Given the description of an element on the screen output the (x, y) to click on. 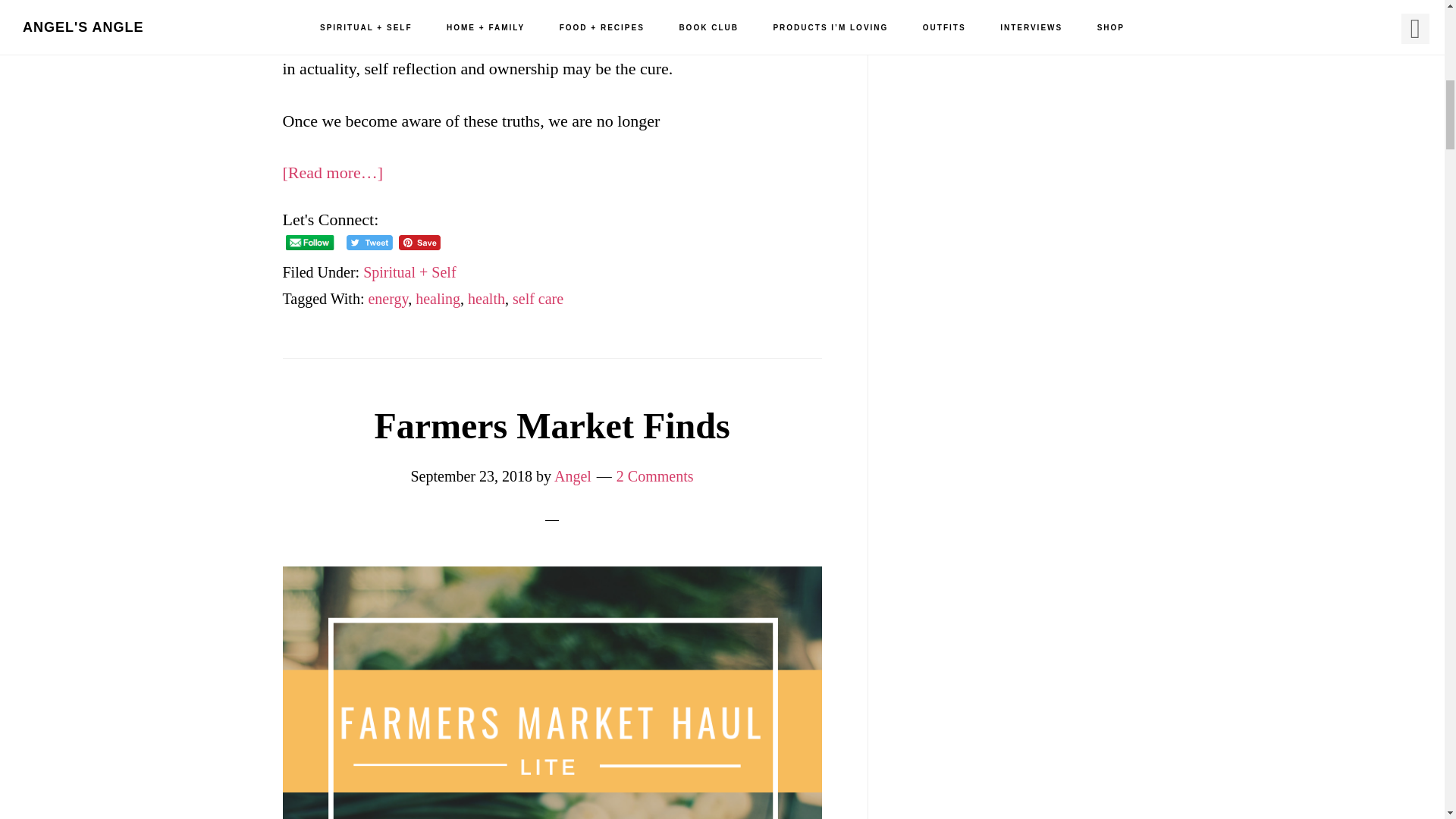
Farmers Market Finds (551, 425)
self care (537, 298)
2 Comments (654, 475)
Pin Share (419, 242)
Angel (572, 475)
healing (437, 298)
health (486, 298)
Tweet (369, 242)
energy (387, 298)
